Given the description of an element on the screen output the (x, y) to click on. 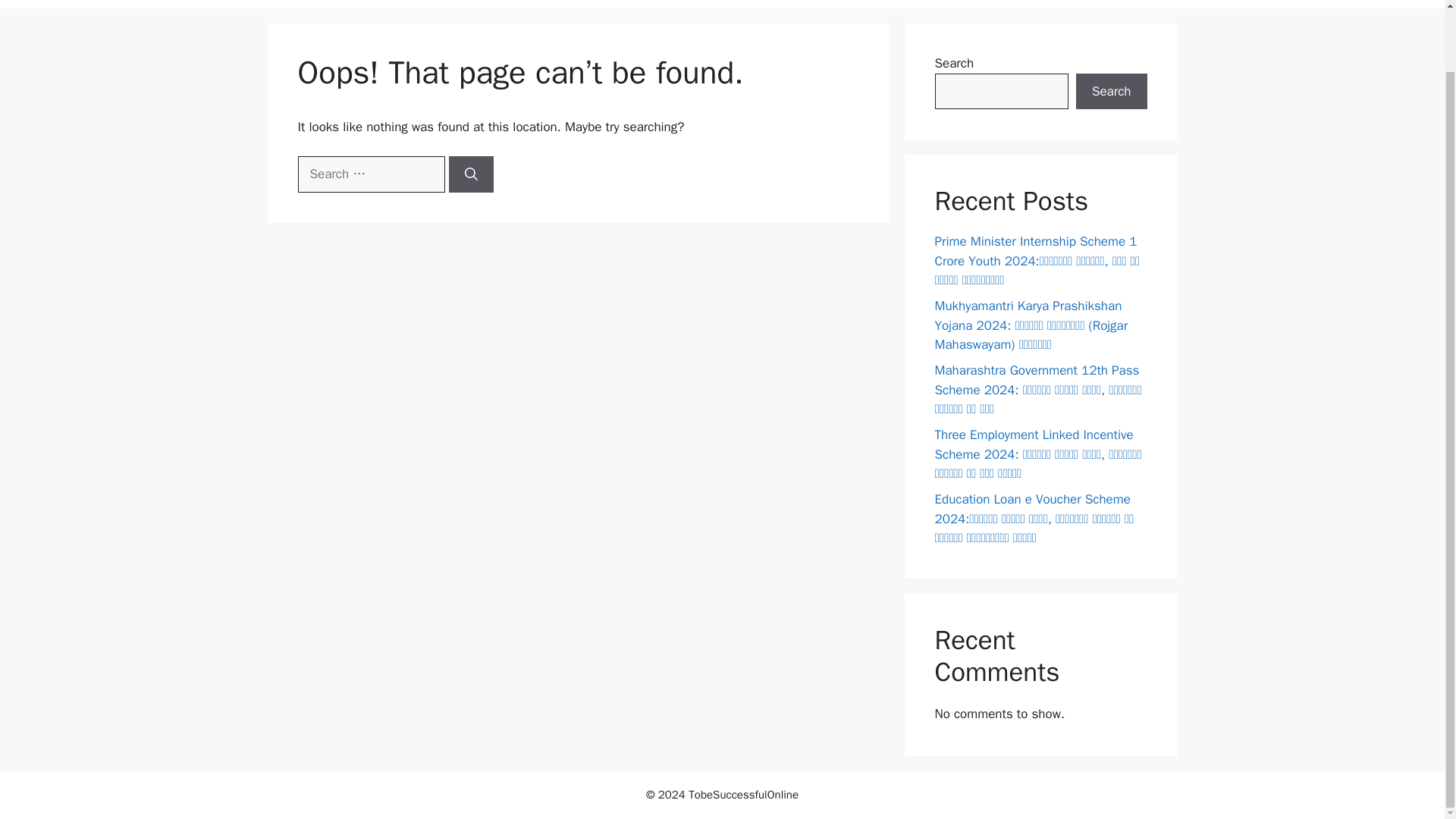
Search for: (370, 174)
Search (1111, 91)
